Given the description of an element on the screen output the (x, y) to click on. 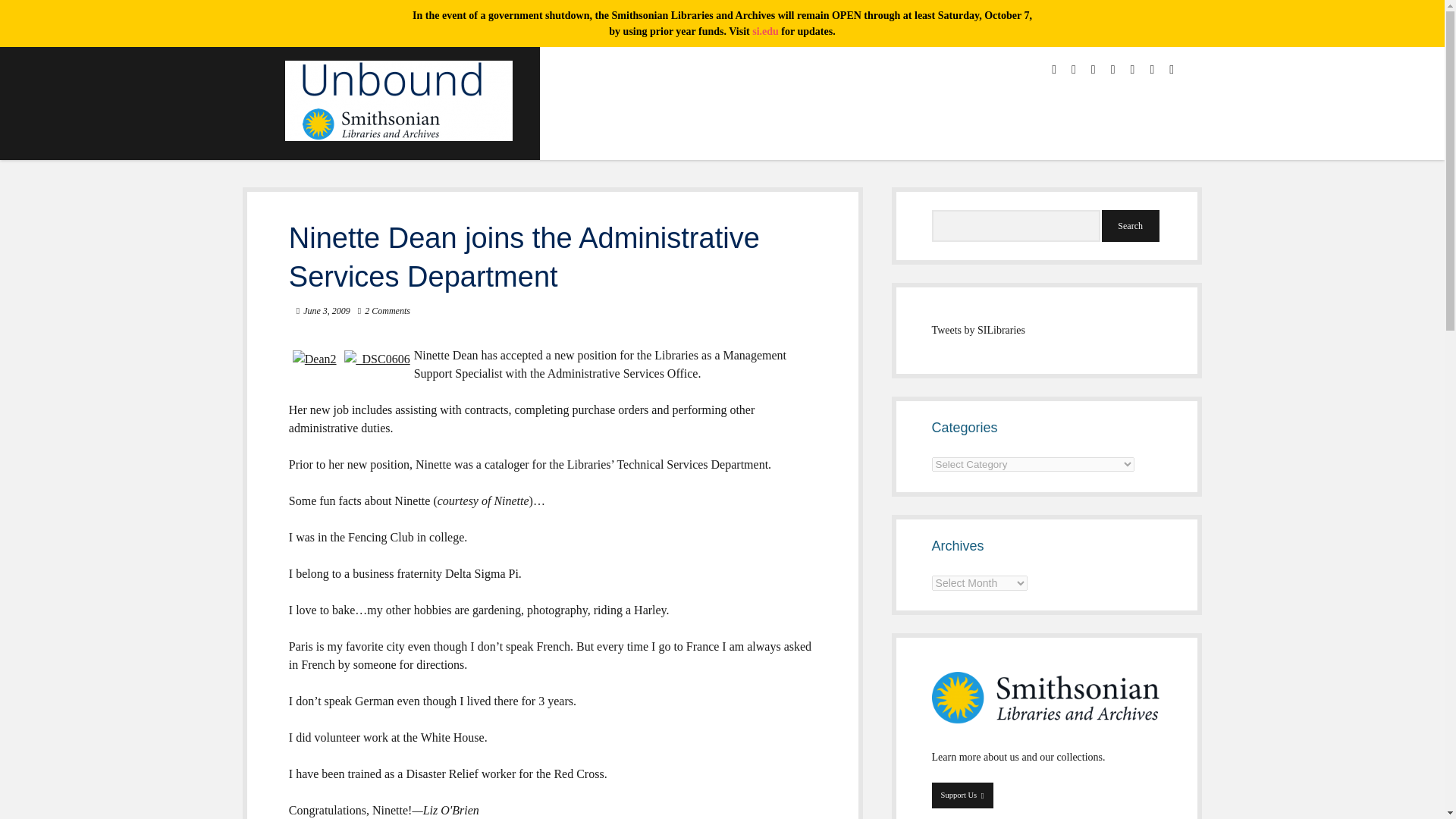
si.edu (765, 30)
Tweets by SILibraries (978, 329)
Dean2 (314, 359)
2 Comments (387, 310)
Search (1130, 225)
Search (1130, 225)
Search for: (961, 795)
June 3, 2009 (1015, 225)
Search (326, 310)
